Given the description of an element on the screen output the (x, y) to click on. 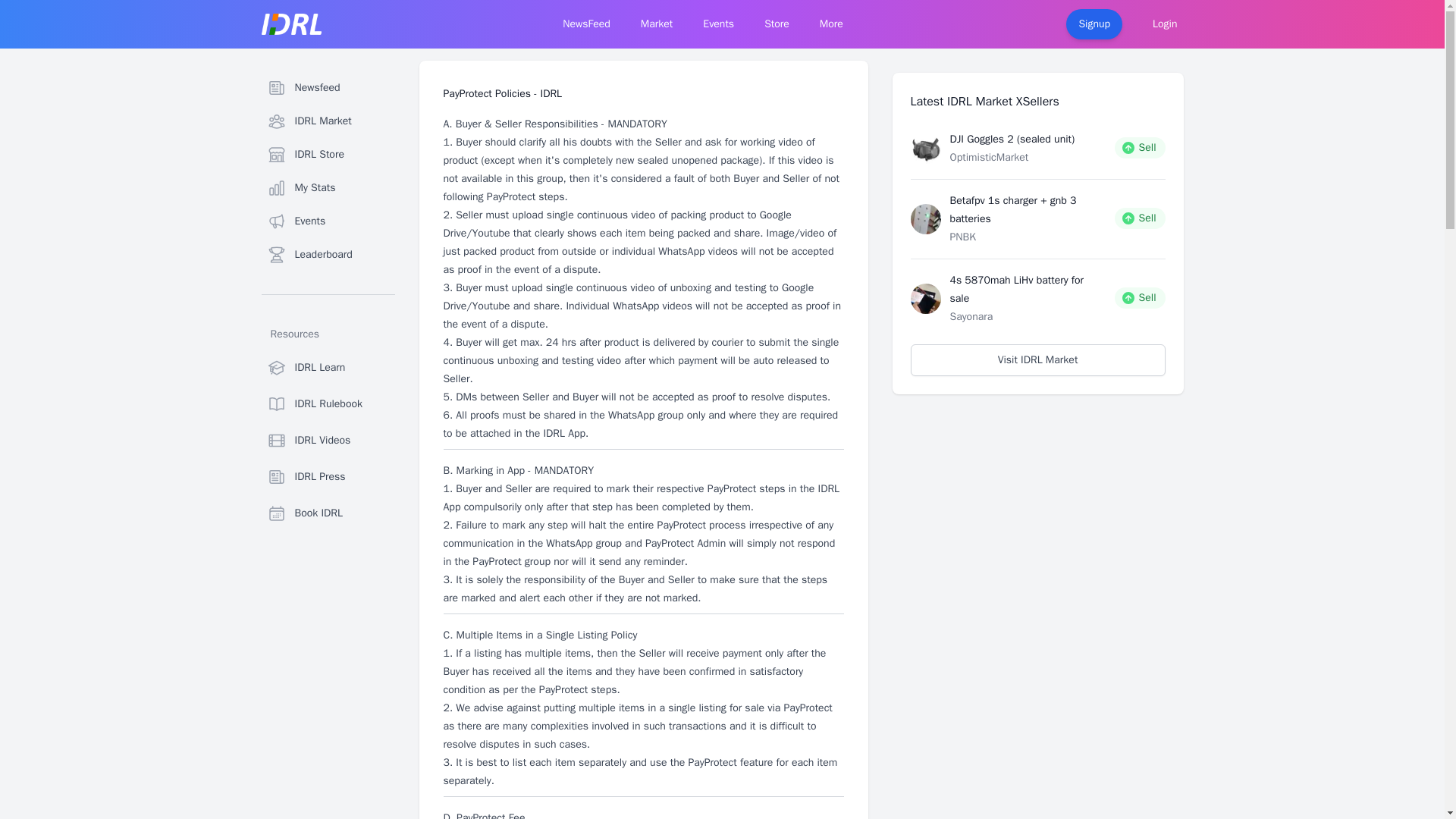
IDRL Press (327, 476)
IDRL Learn (327, 367)
Sell (1140, 147)
More (830, 24)
IDRL Store (327, 154)
Sell (1140, 218)
Leaderboard (327, 254)
Events (327, 221)
Newsfeed (327, 87)
IDRL Rulebook (327, 404)
